Given the description of an element on the screen output the (x, y) to click on. 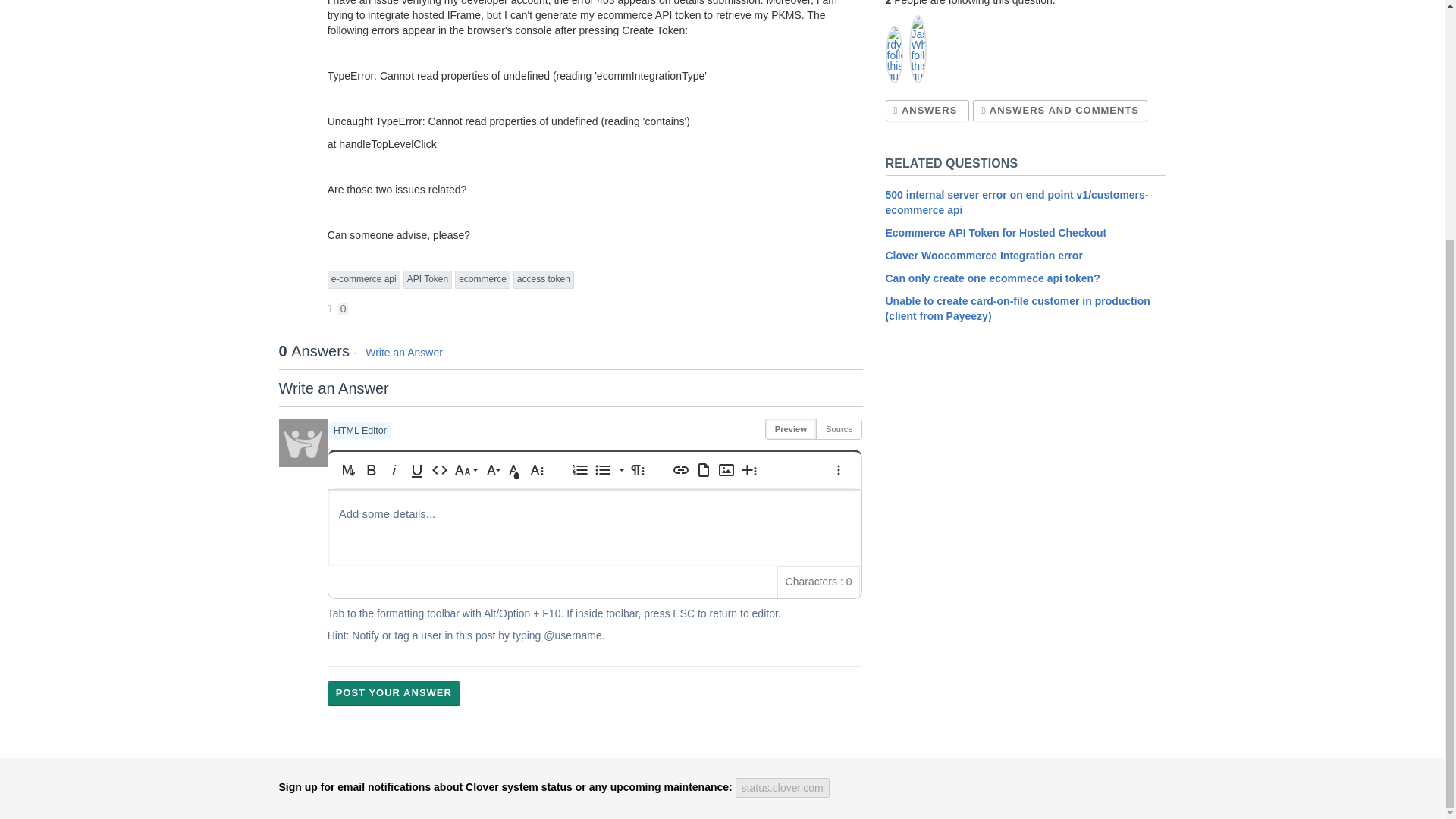
Markdown (348, 470)
Post your Answer (393, 692)
Font Size (465, 470)
Code (439, 470)
status.clover.com (782, 787)
